Given the description of an element on the screen output the (x, y) to click on. 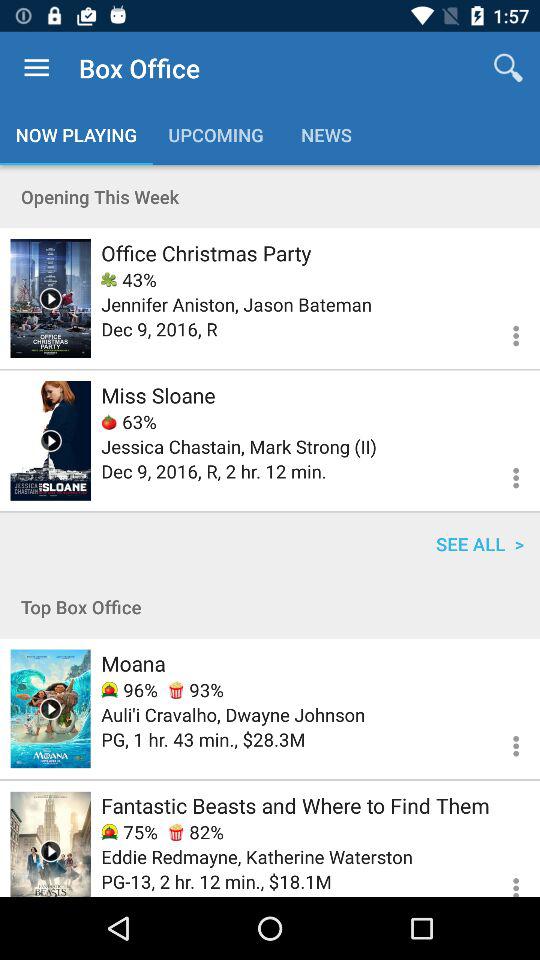
shows infomation about movie (50, 440)
